Given the description of an element on the screen output the (x, y) to click on. 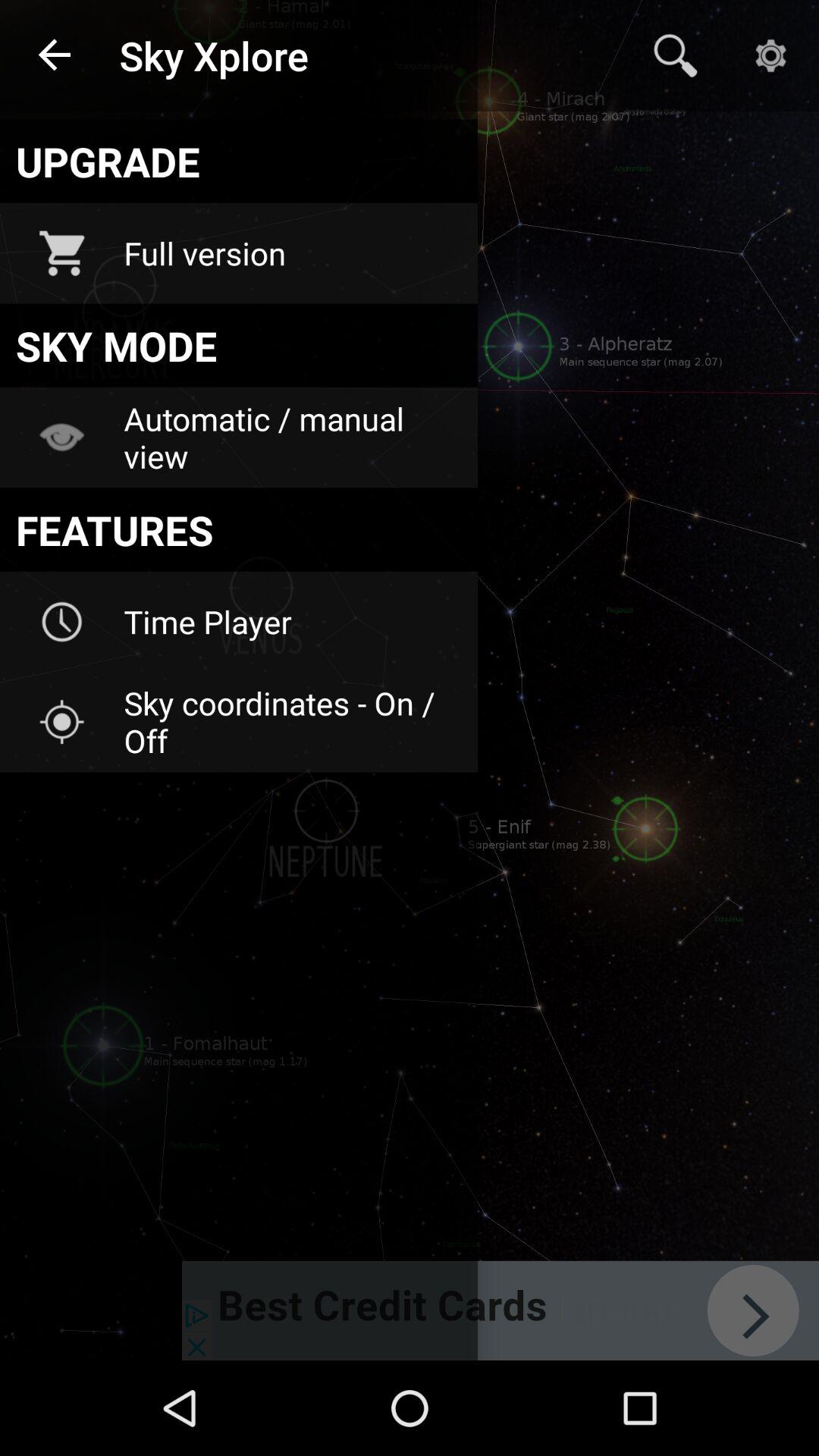
turn off item next to the sky xplore icon (675, 55)
